Given the description of an element on the screen output the (x, y) to click on. 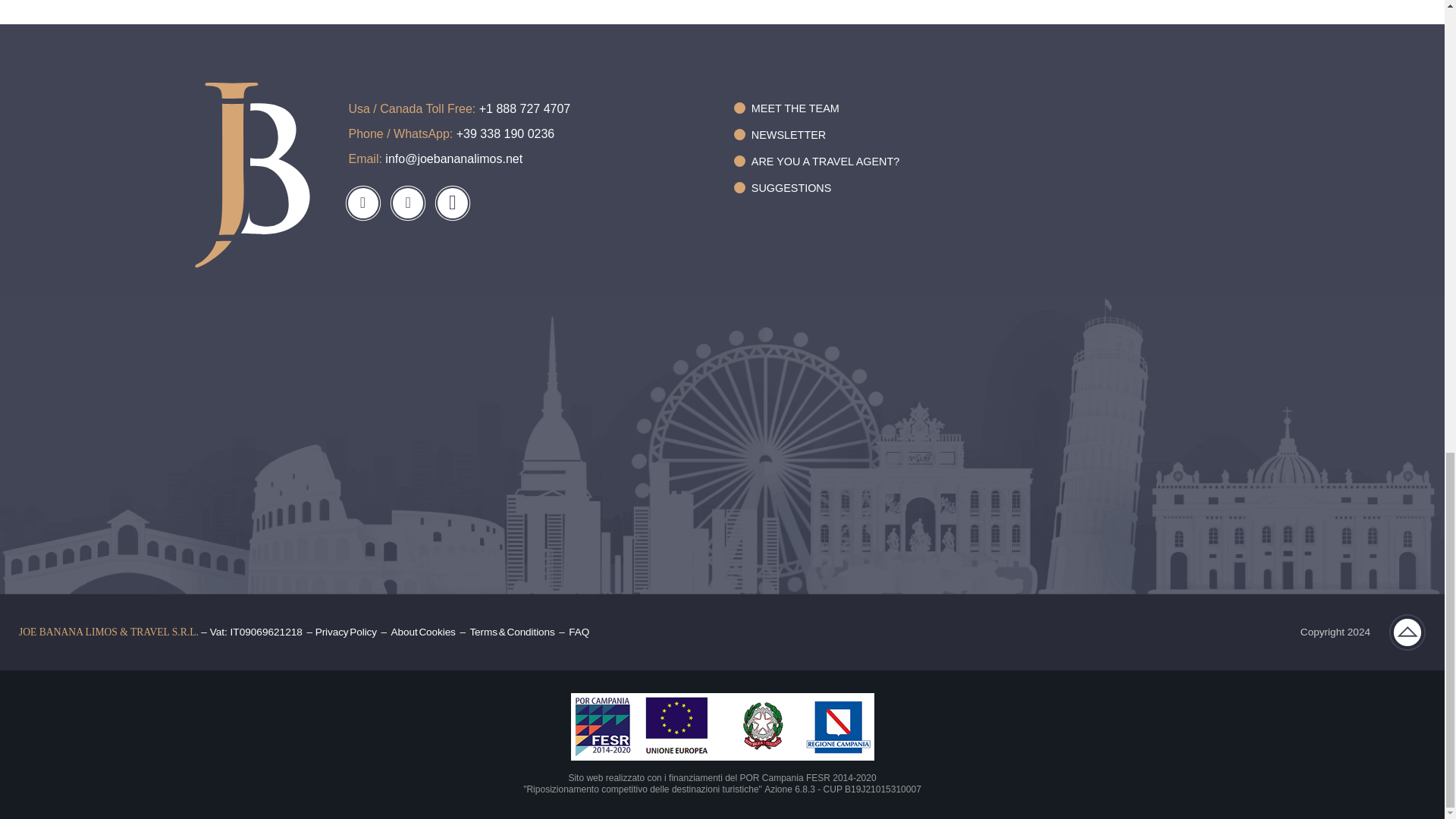
instagram (408, 203)
tripadvisor (452, 203)
MEET THE TEAM (816, 108)
facebook (362, 203)
